Given the description of an element on the screen output the (x, y) to click on. 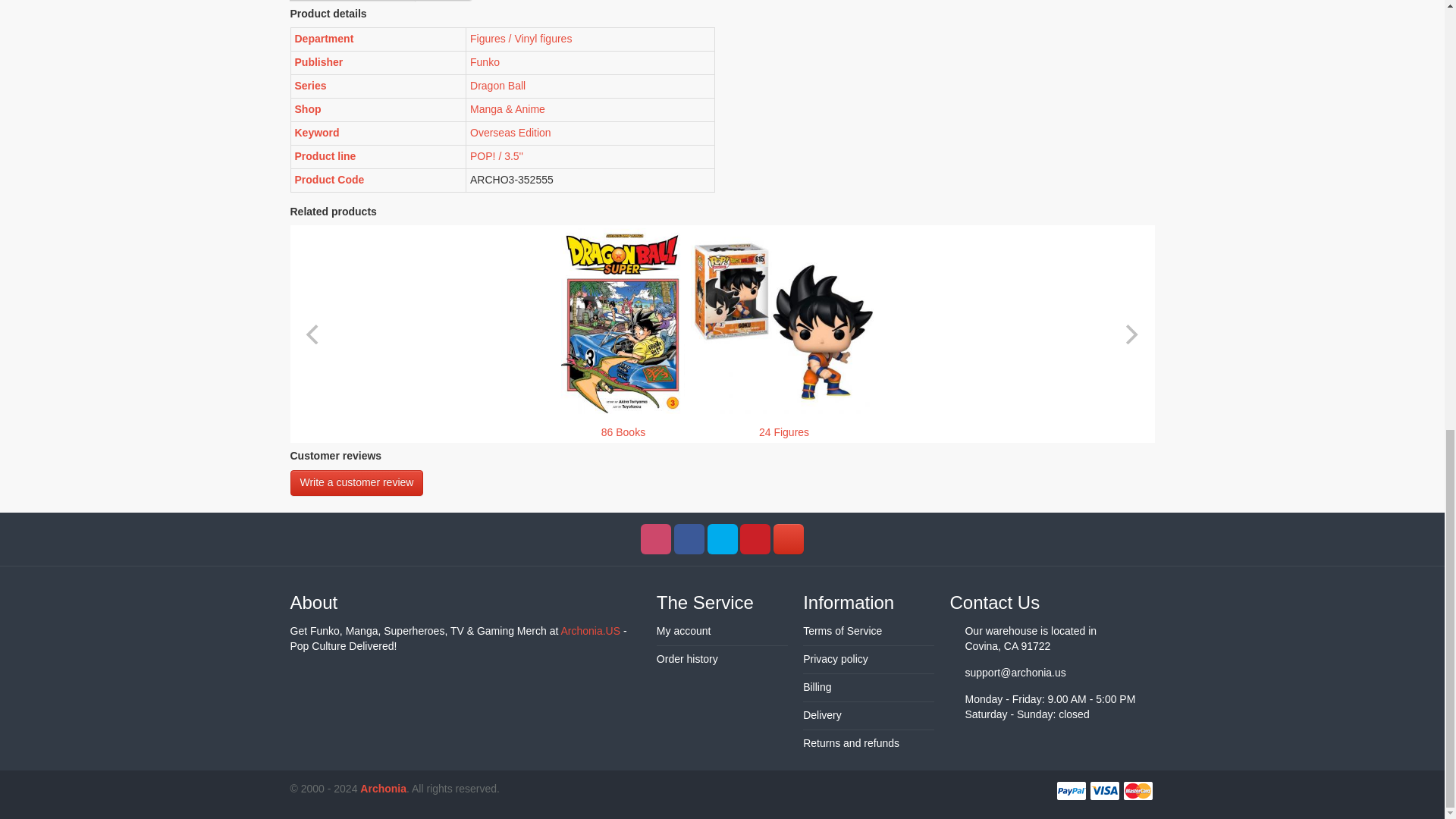
Support (788, 539)
Dragon Ball Z POP! Vinyl Figure - Goku Battle Ready (783, 321)
Facebook (689, 539)
Twitter (721, 539)
Pinterest (754, 539)
Instagram (655, 539)
